Given the description of an element on the screen output the (x, y) to click on. 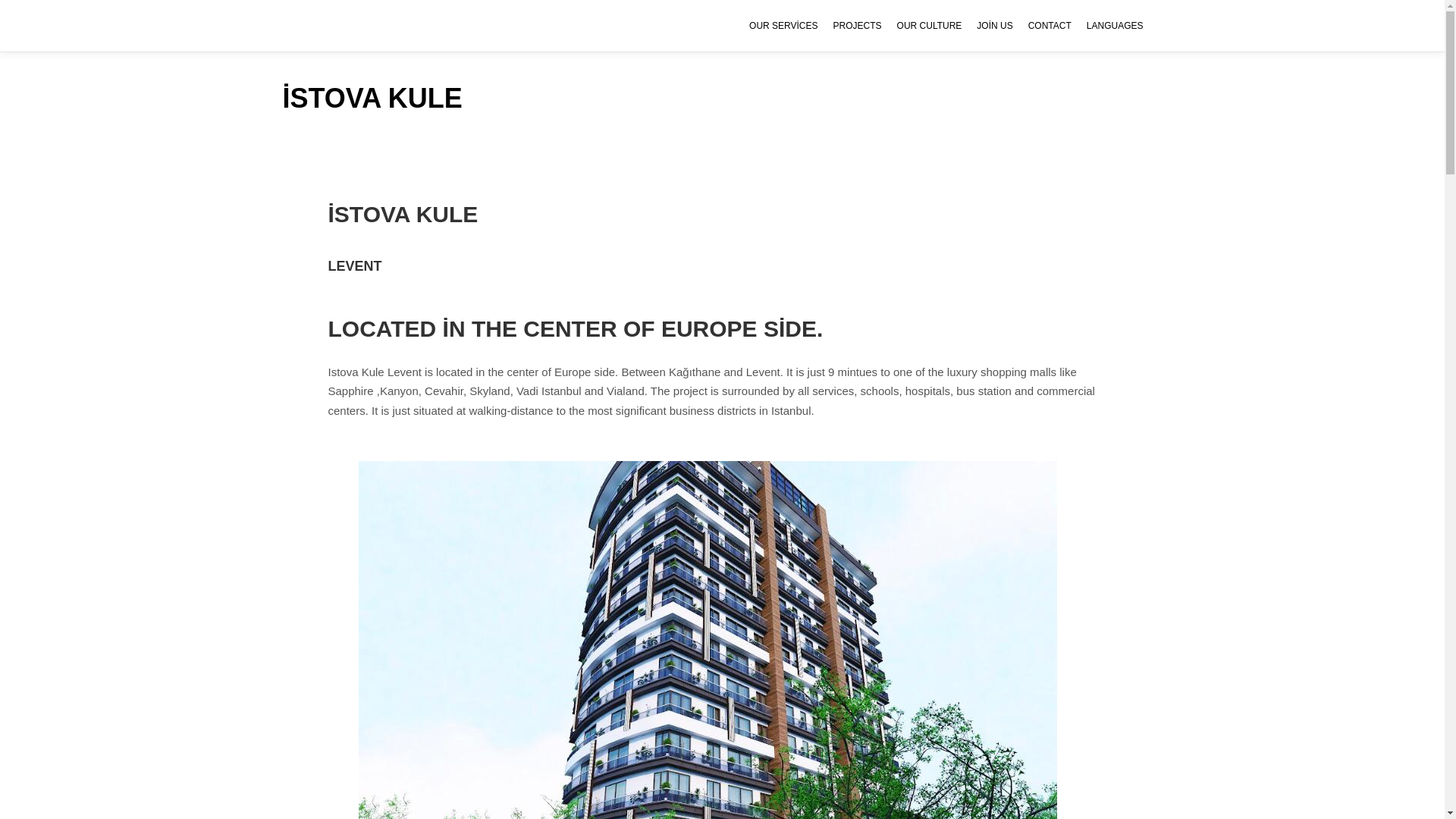
CONTACT (1049, 25)
OUR SERVICES (783, 25)
JOIN US (994, 25)
G2A (344, 25)
PROJECTS (857, 25)
LANGUAGES (1114, 25)
OUR CULTURE (929, 25)
